Given the description of an element on the screen output the (x, y) to click on. 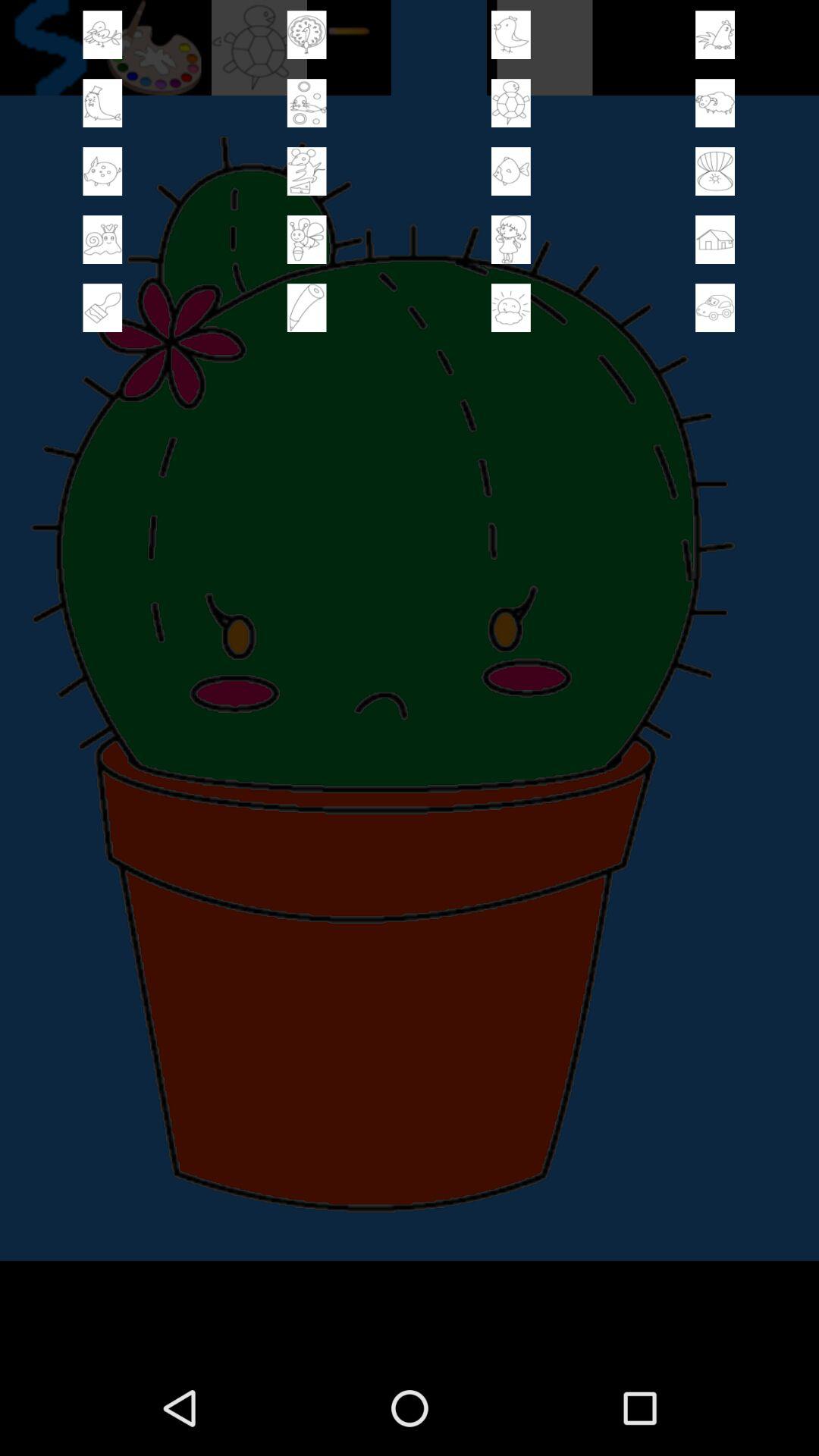
select photo (306, 239)
